Given the description of an element on the screen output the (x, y) to click on. 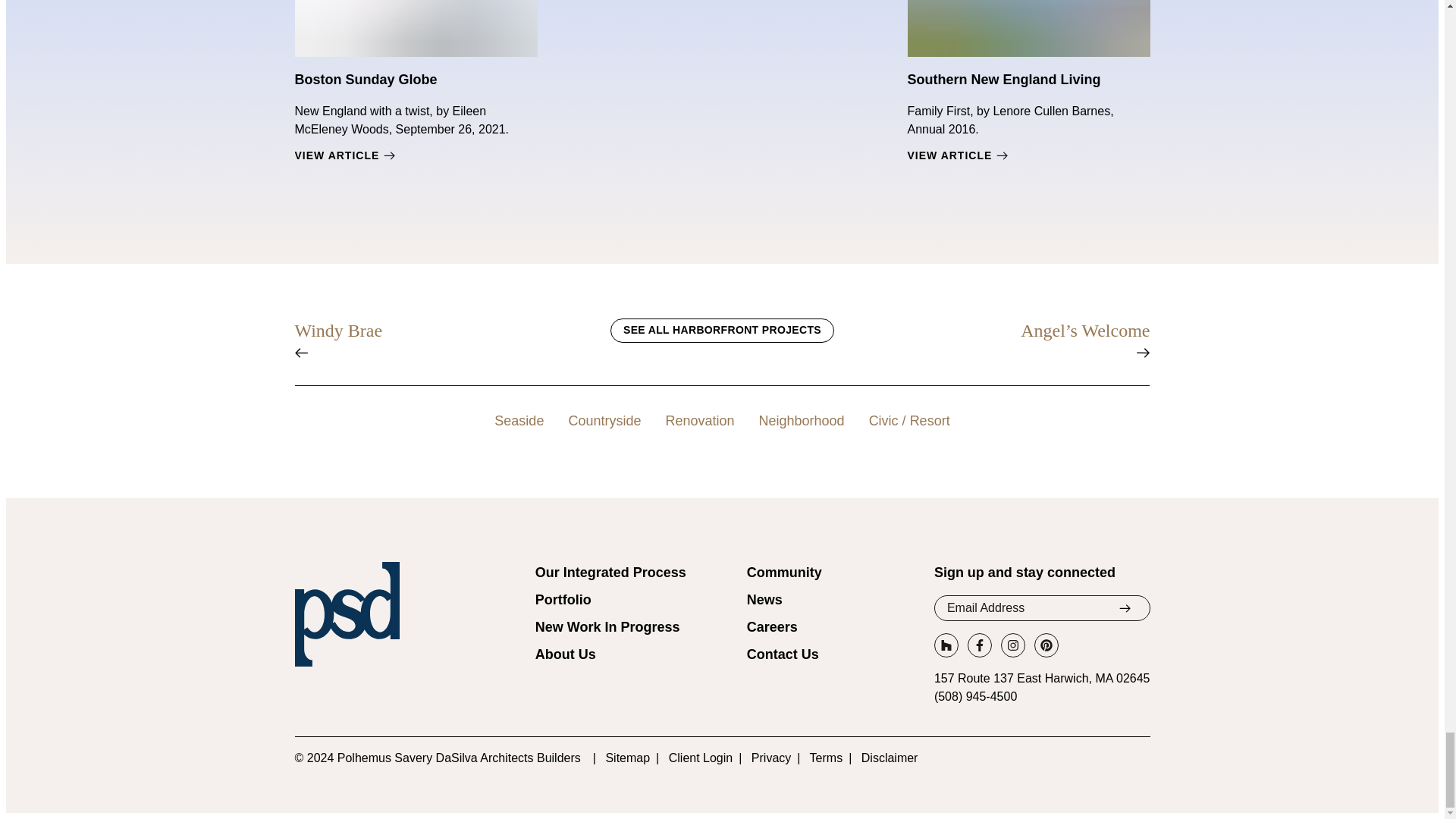
About Us (565, 654)
Houzz (946, 645)
Pinterest (1045, 645)
Neighborhood (801, 420)
Privacy (770, 757)
Countryside (603, 420)
VIEW ARTICLE (415, 154)
News (764, 599)
